Given the description of an element on the screen output the (x, y) to click on. 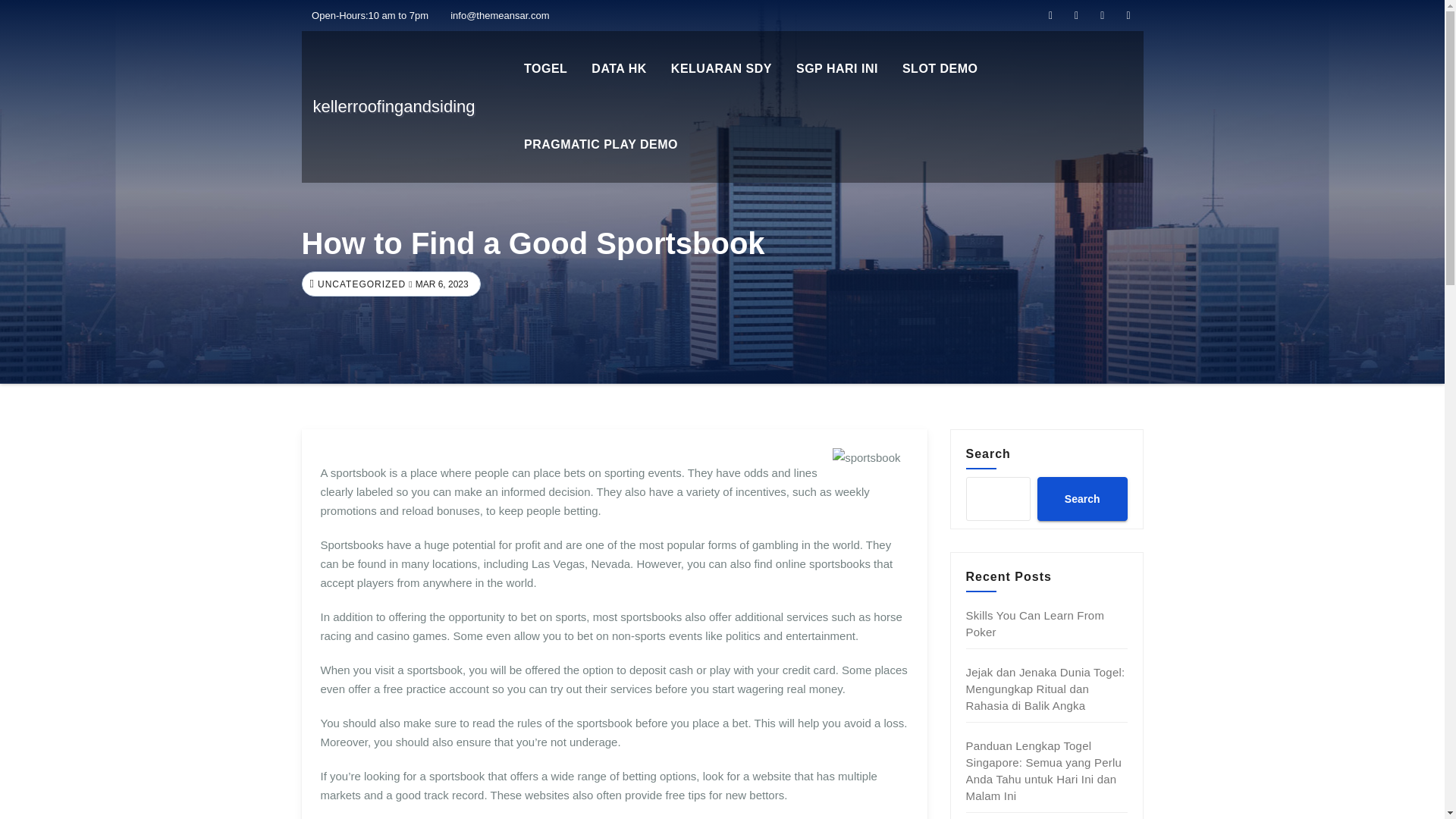
data hk (619, 69)
PRAGMATIC PLAY DEMO (601, 144)
Togel (545, 69)
SGP HARI INI (836, 69)
Skills You Can Learn From Poker (1035, 623)
kellerroofingandsiding (393, 106)
sgp hari ini (836, 69)
KELUARAN SDY (721, 69)
